Given the description of an element on the screen output the (x, y) to click on. 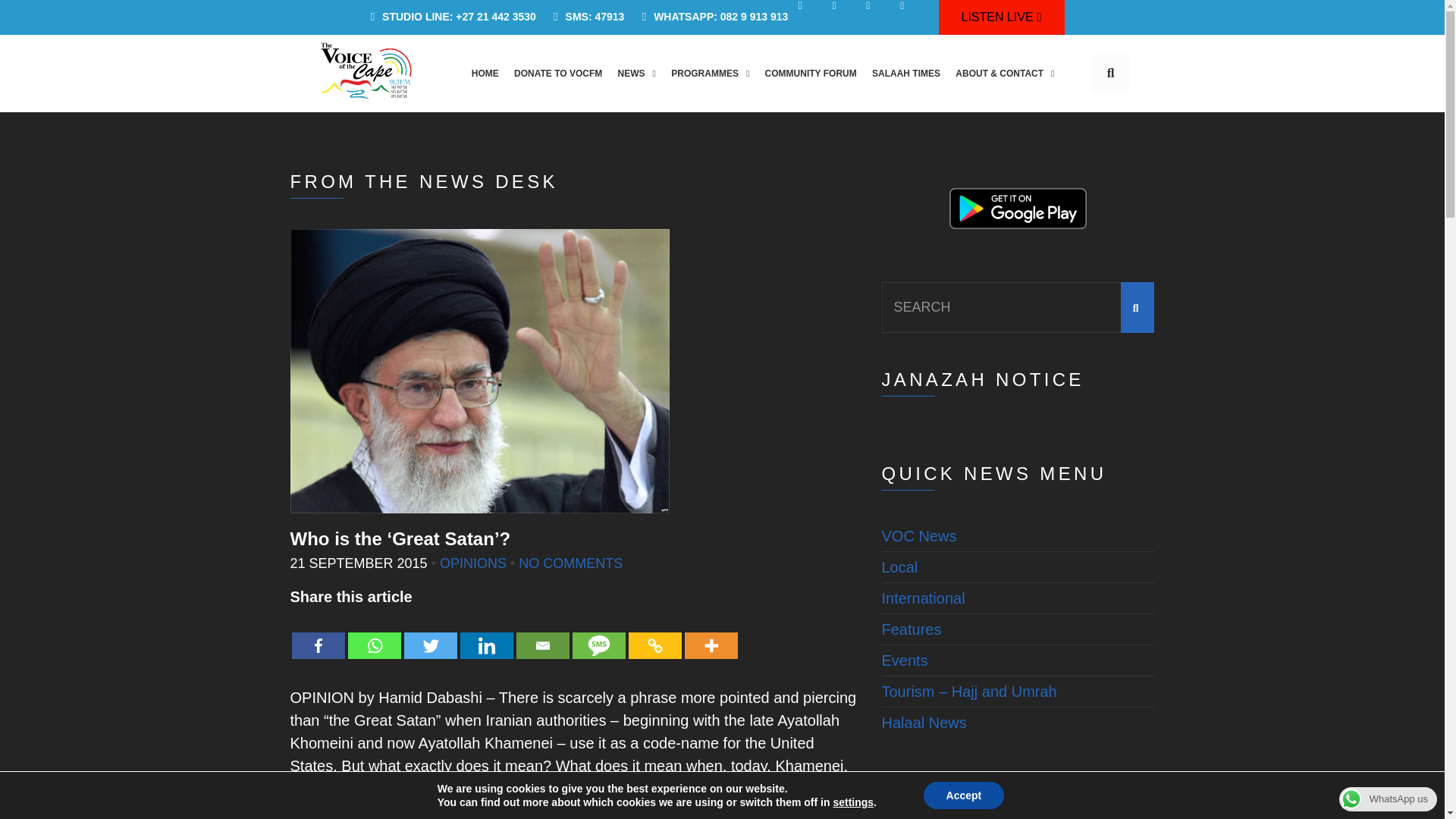
Facebook (317, 634)
HOME (484, 73)
WHATSAPP: 082 9 913 913 (709, 17)
Whatsapp (373, 634)
Twitter (430, 634)
PROGRAMMES (709, 73)
DONATE TO VOCFM (558, 73)
SALAAH TIMES (905, 73)
NEWS (636, 73)
Email (542, 634)
LISTEN LIVE (1001, 17)
SMS (598, 634)
COMMUNITY FORUM (810, 73)
More (710, 634)
Linkedin (486, 634)
